Given the description of an element on the screen output the (x, y) to click on. 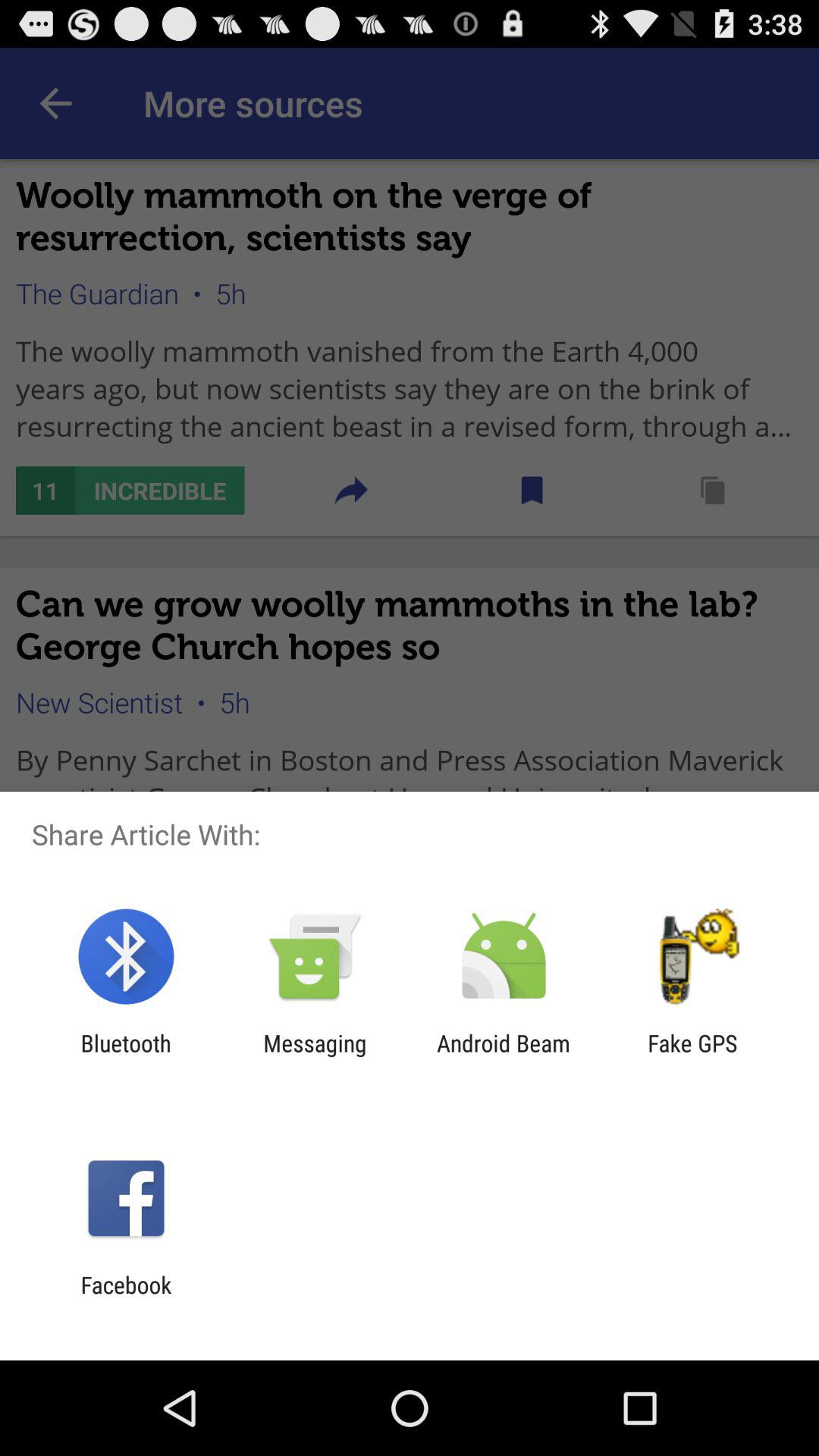
turn on the app to the right of bluetooth app (314, 1056)
